Given the description of an element on the screen output the (x, y) to click on. 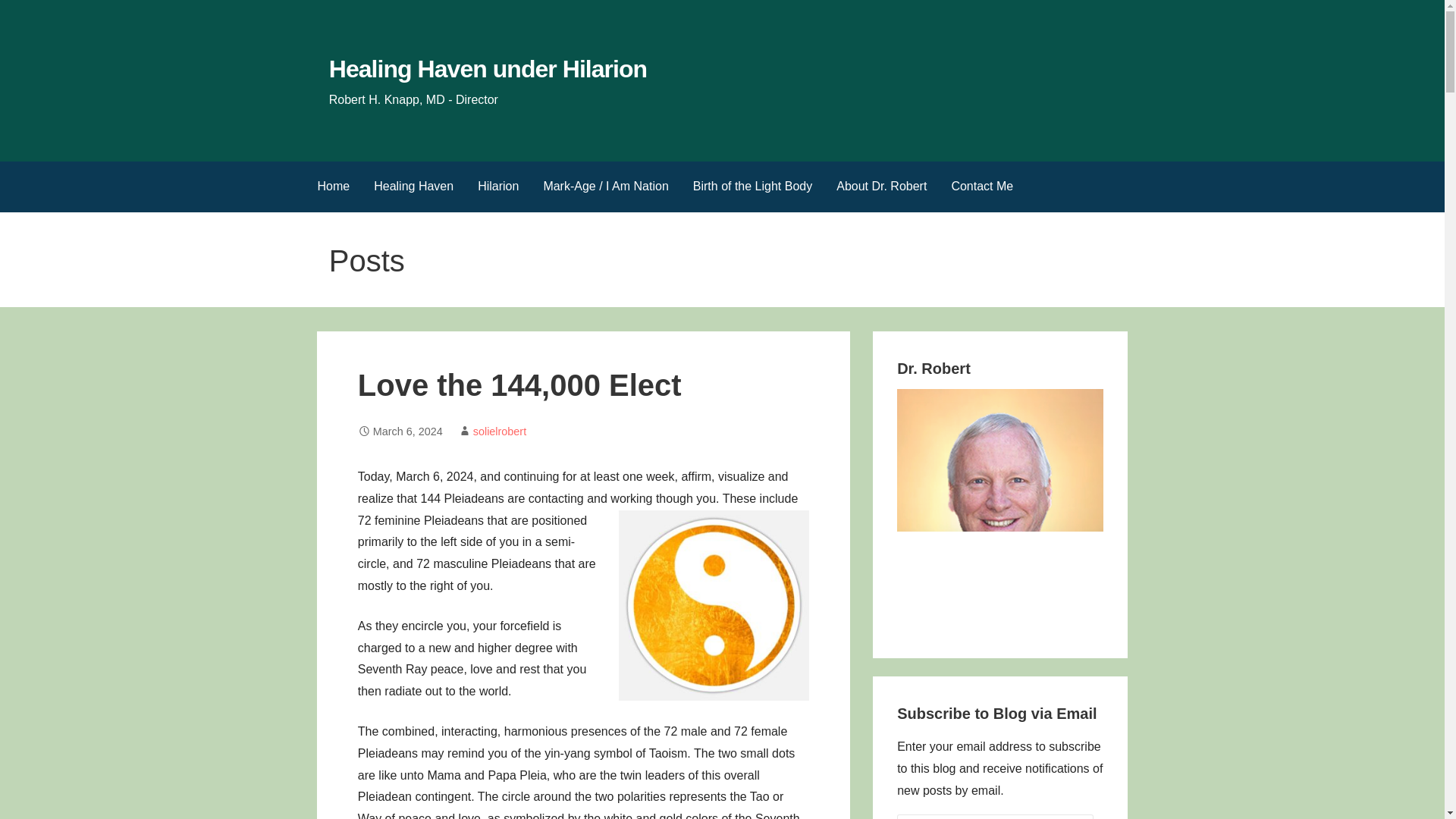
Healing Haven under Hilarion (487, 68)
Hilarion (498, 186)
About Dr. Robert (881, 186)
solielrobert (499, 431)
Posts by solielrobert (499, 431)
Contact Me (982, 186)
Healing Haven (413, 186)
Home (332, 186)
Birth of the Light Body (752, 186)
